Given the description of an element on the screen output the (x, y) to click on. 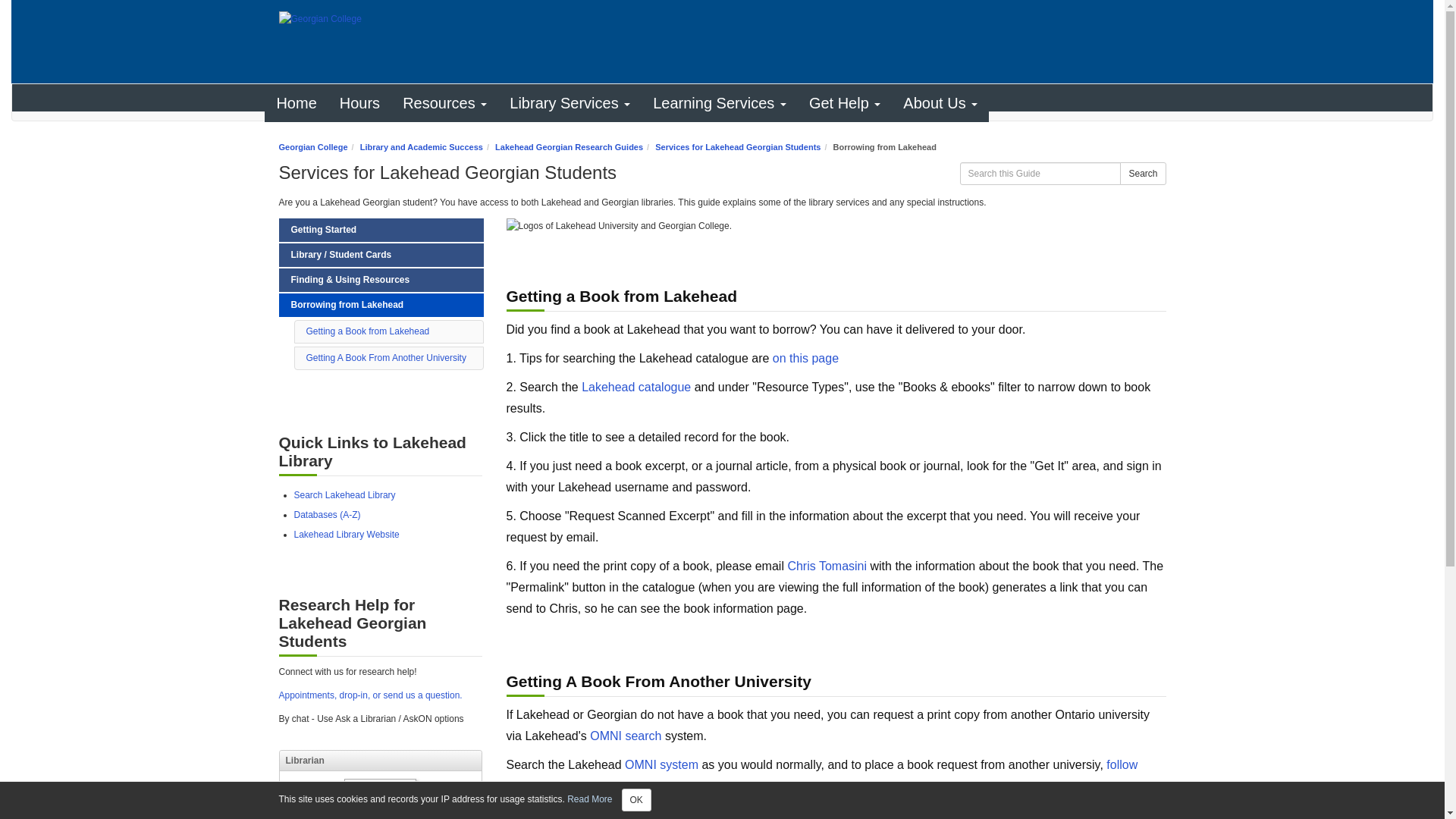
Information about locating library resources at GC and LU (381, 279)
Read More (589, 798)
OK (635, 799)
Library Services (569, 103)
Hours (360, 103)
Resources (444, 103)
About Us (939, 103)
Home (295, 103)
Get Help (844, 103)
Learning Services (719, 103)
